Given the description of an element on the screen output the (x, y) to click on. 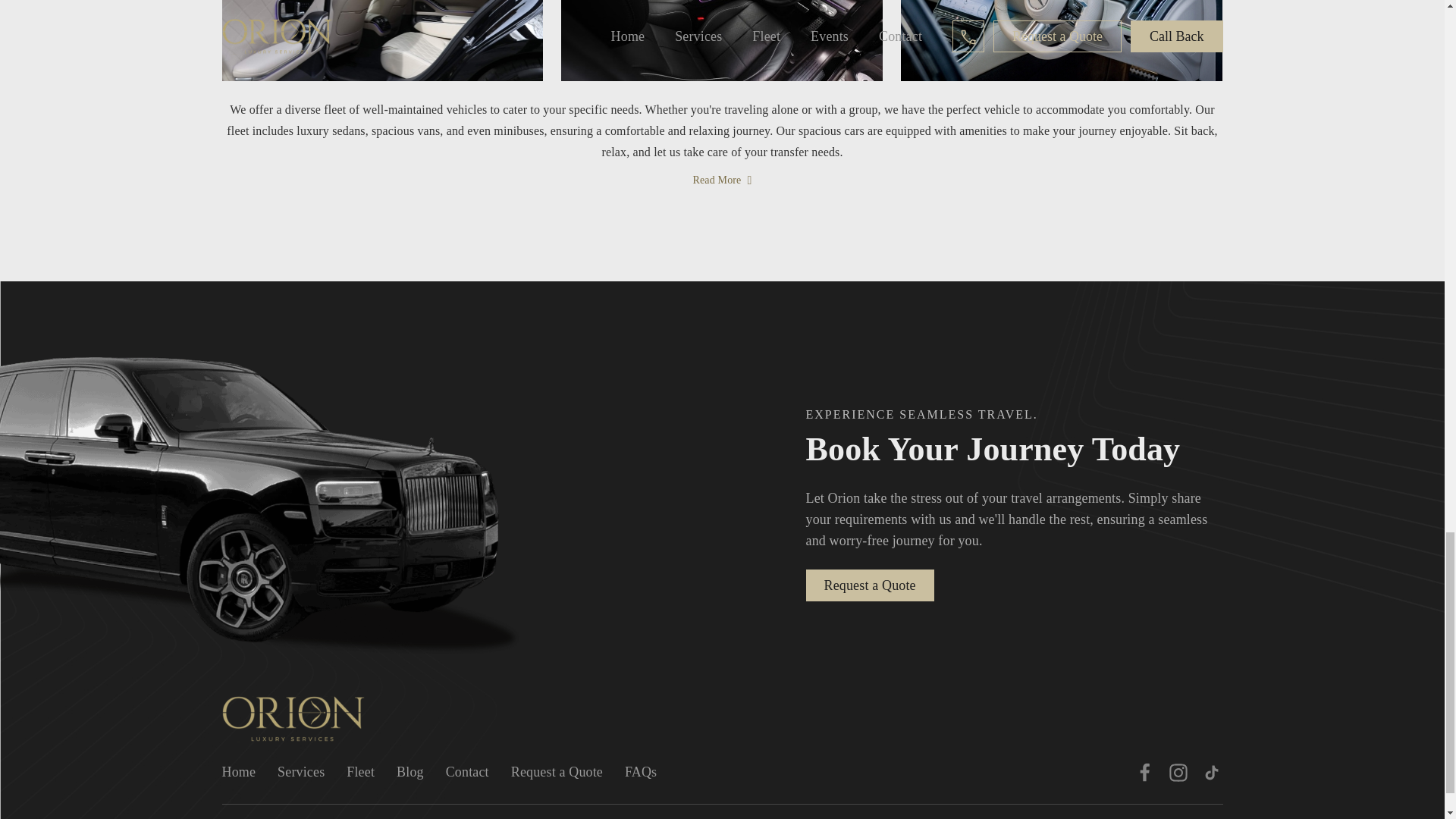
Services (301, 771)
Home (238, 771)
Blog (409, 771)
Fleet (360, 771)
Read More (722, 179)
FAQs (640, 771)
Request a Quote (869, 585)
Contact (467, 771)
Request a Quote (556, 771)
